Given the description of an element on the screen output the (x, y) to click on. 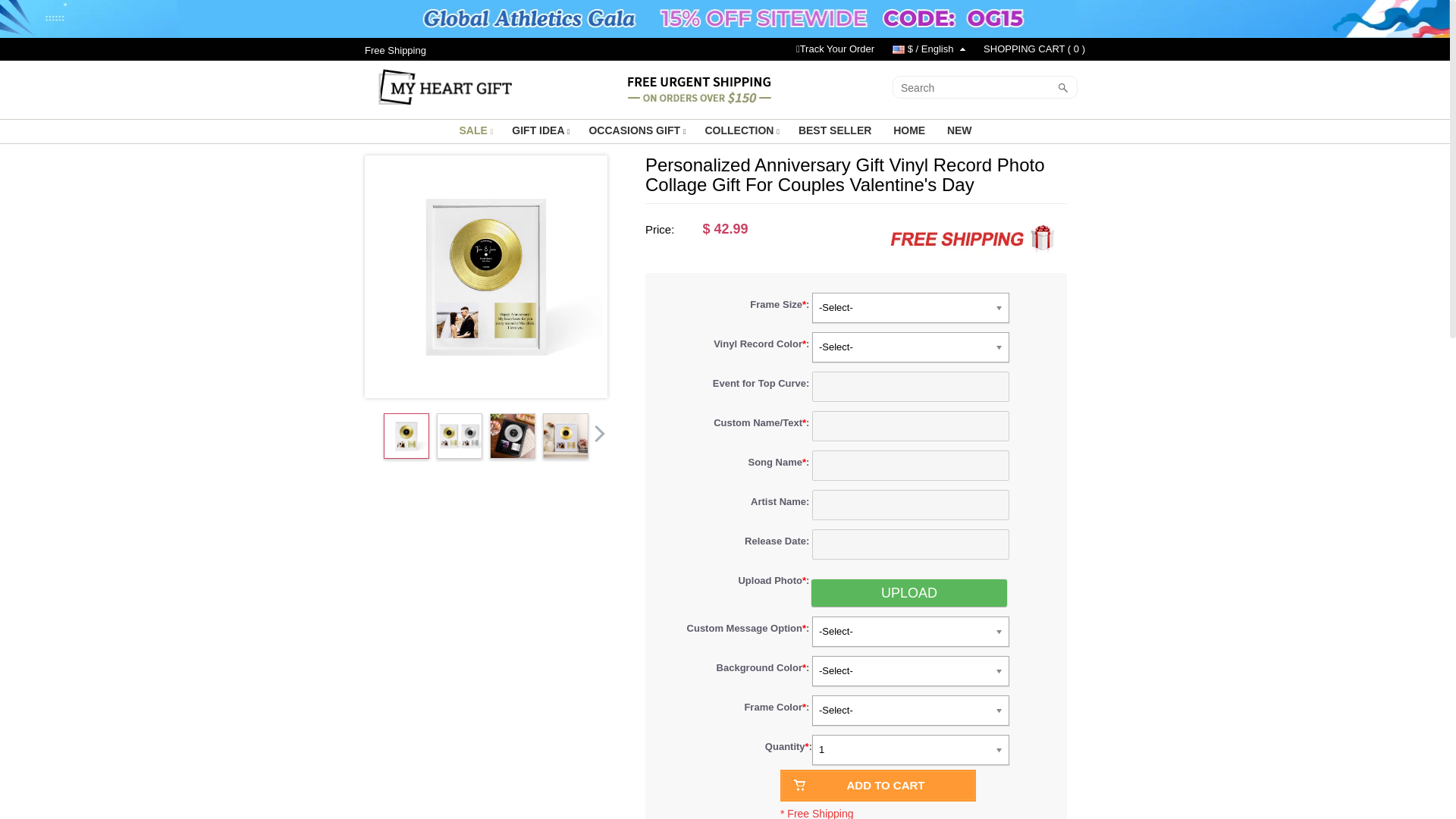
myheartgift (445, 85)
Search (972, 87)
